Given the description of an element on the screen output the (x, y) to click on. 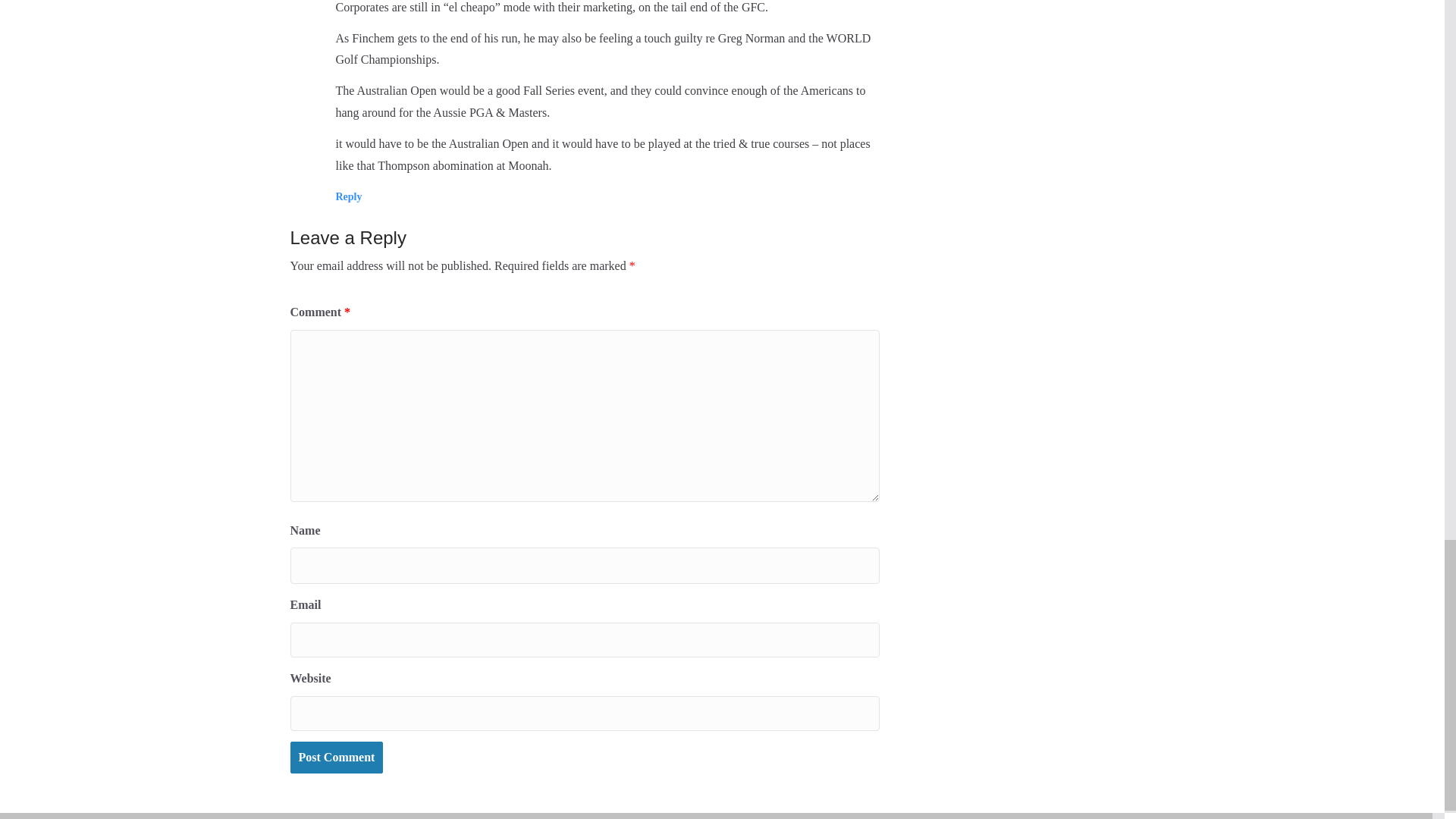
Post Comment (335, 757)
Reply (347, 196)
Post Comment (335, 757)
